Given the description of an element on the screen output the (x, y) to click on. 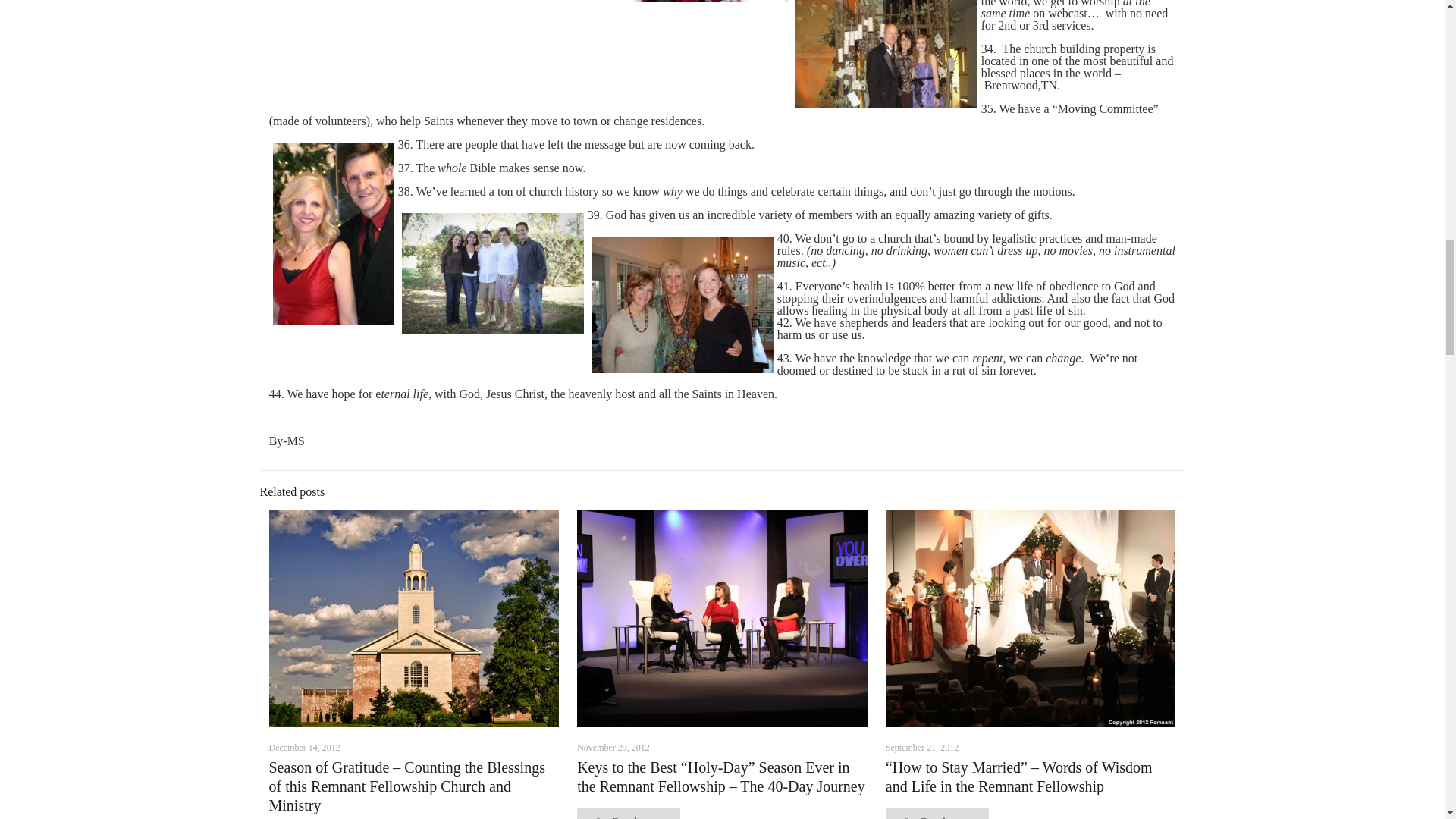
Read more (627, 813)
Read more (936, 813)
